Given the description of an element on the screen output the (x, y) to click on. 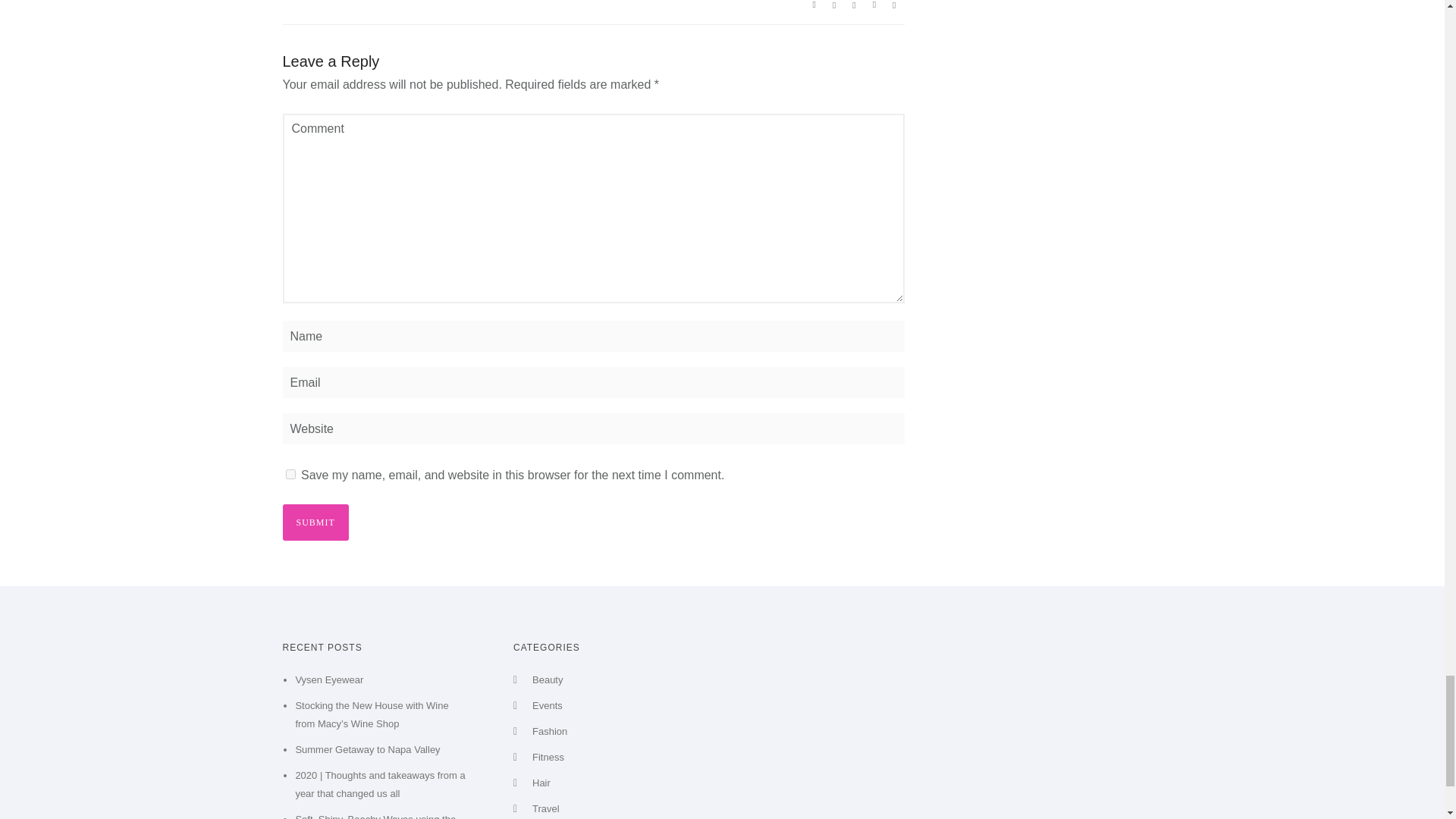
Submit (314, 522)
Vysen Eyewear (328, 679)
Submit (314, 522)
yes (290, 474)
